Given the description of an element on the screen output the (x, y) to click on. 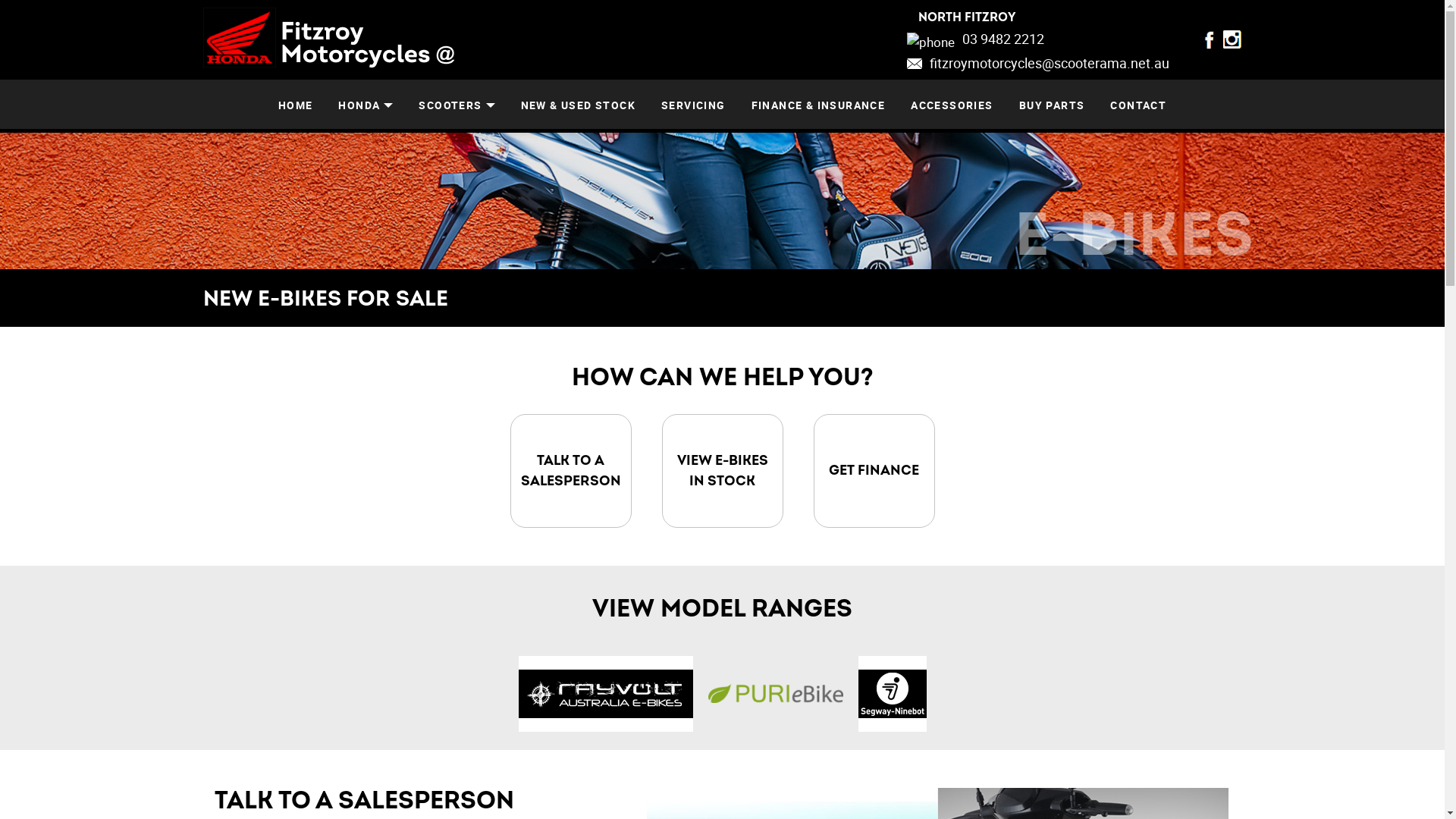
SCOOTERS Element type: text (456, 105)
SERVICING Element type: text (693, 105)
BUY PARTS Element type: text (1052, 105)
HONDA Element type: text (365, 105)
CONTACT Element type: text (1138, 105)
FINANCE & INSURANCE Element type: text (818, 105)
VIEW E-BIKES IN STOCK Element type: text (721, 470)
ACCESSORIES Element type: text (951, 105)
fitzroymotorcycles@scooterama.net.au Element type: text (1037, 64)
HOME Element type: text (295, 105)
03 9482 2212 Element type: text (1037, 42)
NEW & USED STOCK Element type: text (578, 105)
TALK TO A SALESPERSON Element type: text (569, 470)
GET FINANCE Element type: text (873, 470)
